Given the description of an element on the screen output the (x, y) to click on. 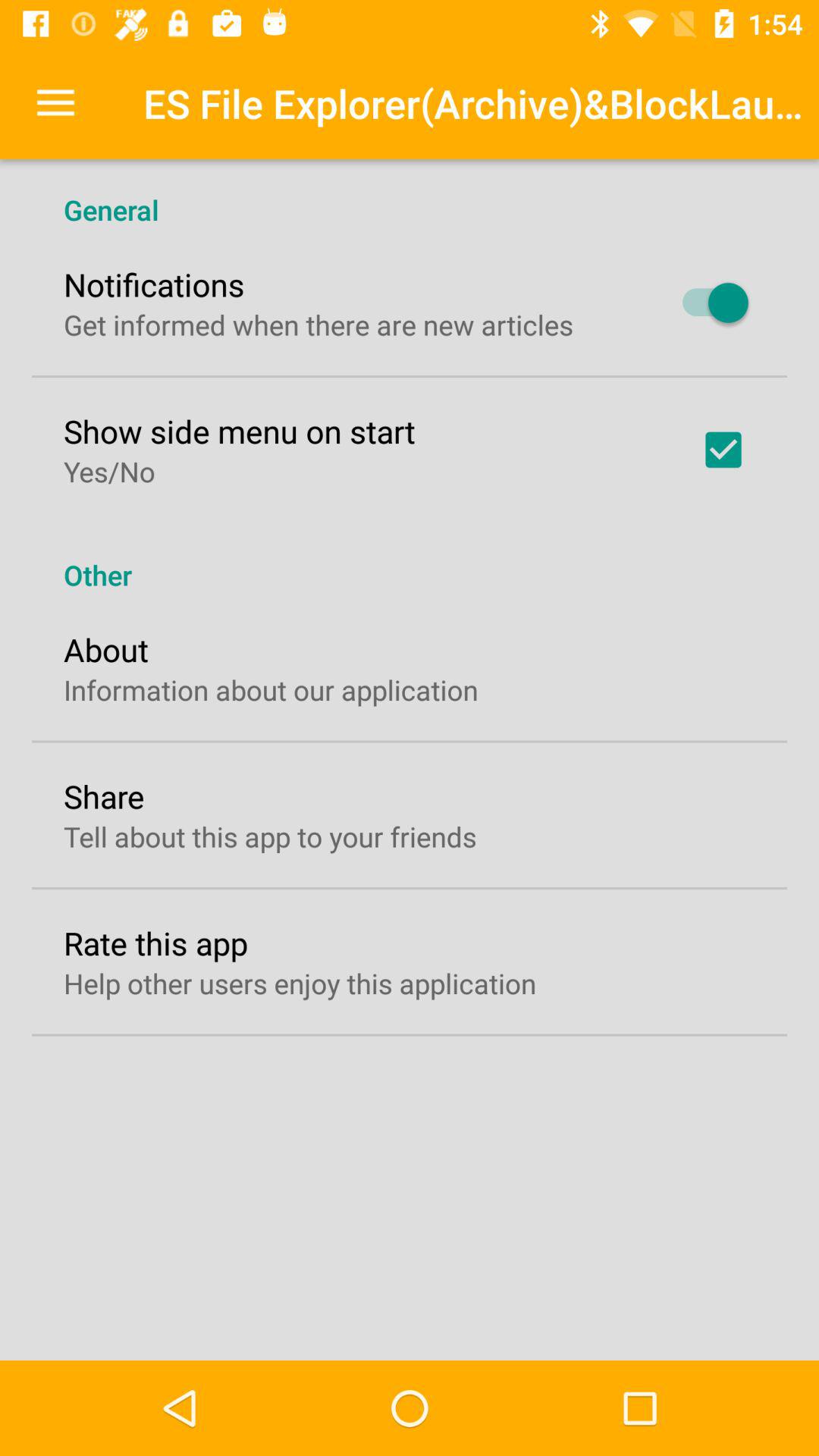
select the notifications item (153, 283)
